Given the description of an element on the screen output the (x, y) to click on. 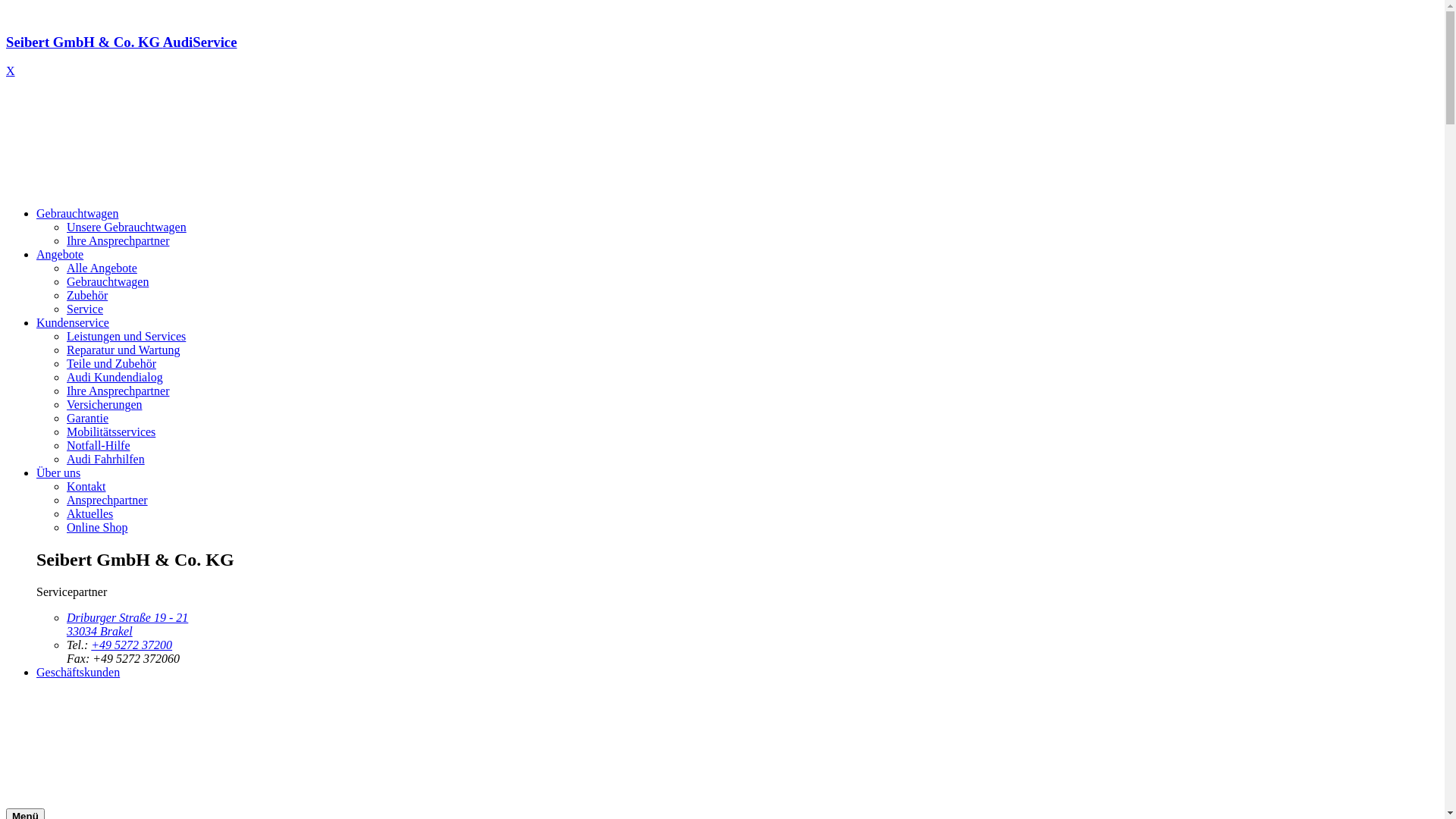
Versicherungen Element type: text (104, 404)
Online Shop Element type: text (96, 526)
Kundenservice Element type: text (72, 322)
Ihre Ansprechpartner Element type: text (117, 390)
Notfall-Hilfe Element type: text (98, 445)
Kontakt Element type: text (86, 486)
Garantie Element type: text (87, 417)
Leistungen und Services Element type: text (125, 335)
+49 5272 37200 Element type: text (131, 644)
Alle Angebote Element type: text (101, 267)
Reparatur und Wartung Element type: text (122, 349)
Angebote Element type: text (59, 253)
Unsere Gebrauchtwagen Element type: text (126, 226)
Gebrauchtwagen Element type: text (107, 281)
Service Element type: text (84, 308)
Ihre Ansprechpartner Element type: text (117, 240)
Seibert GmbH & Co. KG AudiService Element type: text (722, 56)
Aktuelles Element type: text (89, 513)
Ansprechpartner Element type: text (106, 499)
Gebrauchtwagen Element type: text (77, 213)
X Element type: text (10, 70)
Audi Kundendialog Element type: text (114, 376)
Audi Fahrhilfen Element type: text (105, 458)
